Given the description of an element on the screen output the (x, y) to click on. 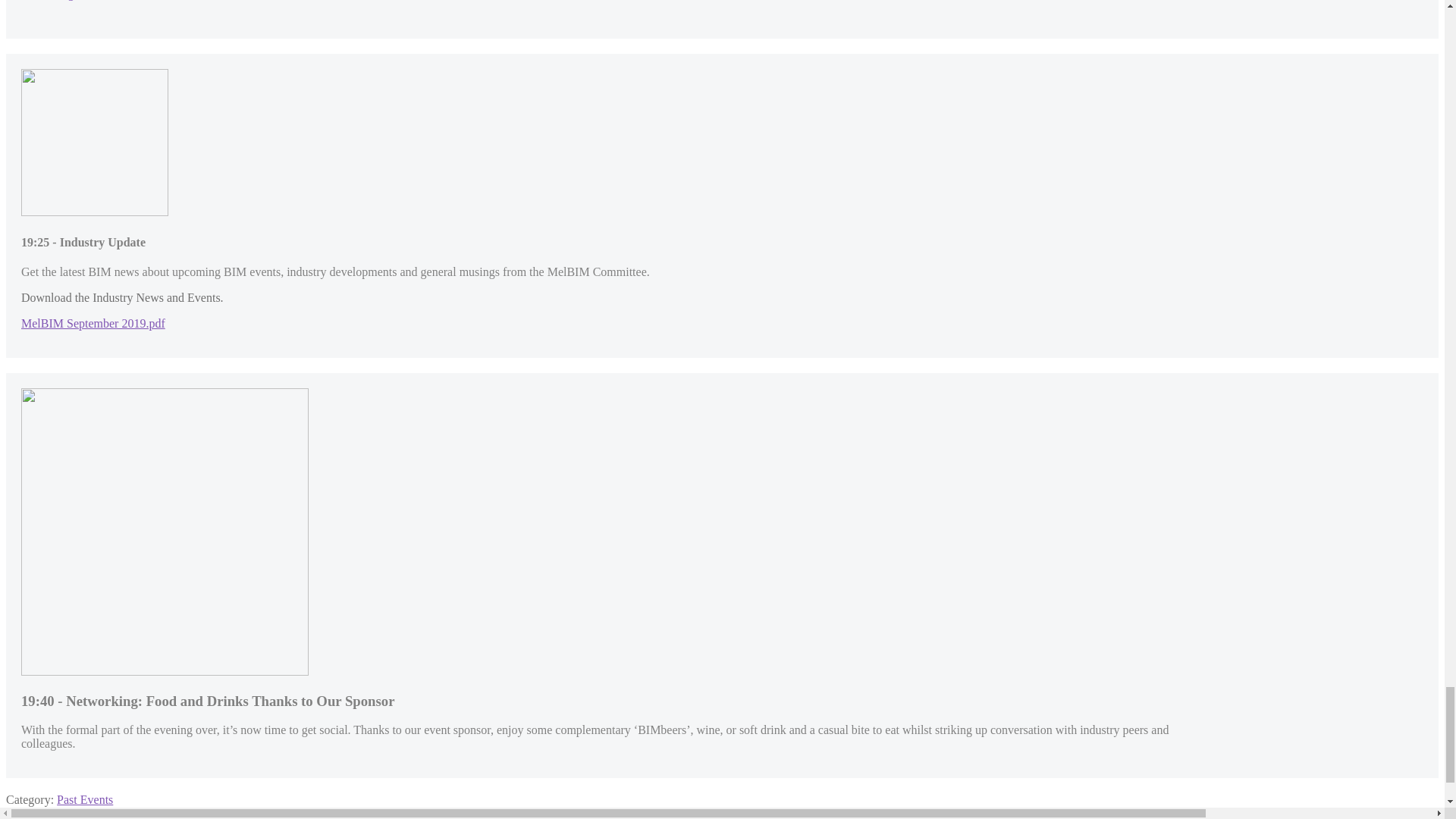
MelBIM September 2019.pdf (93, 323)
Past Events (84, 799)
